Given the description of an element on the screen output the (x, y) to click on. 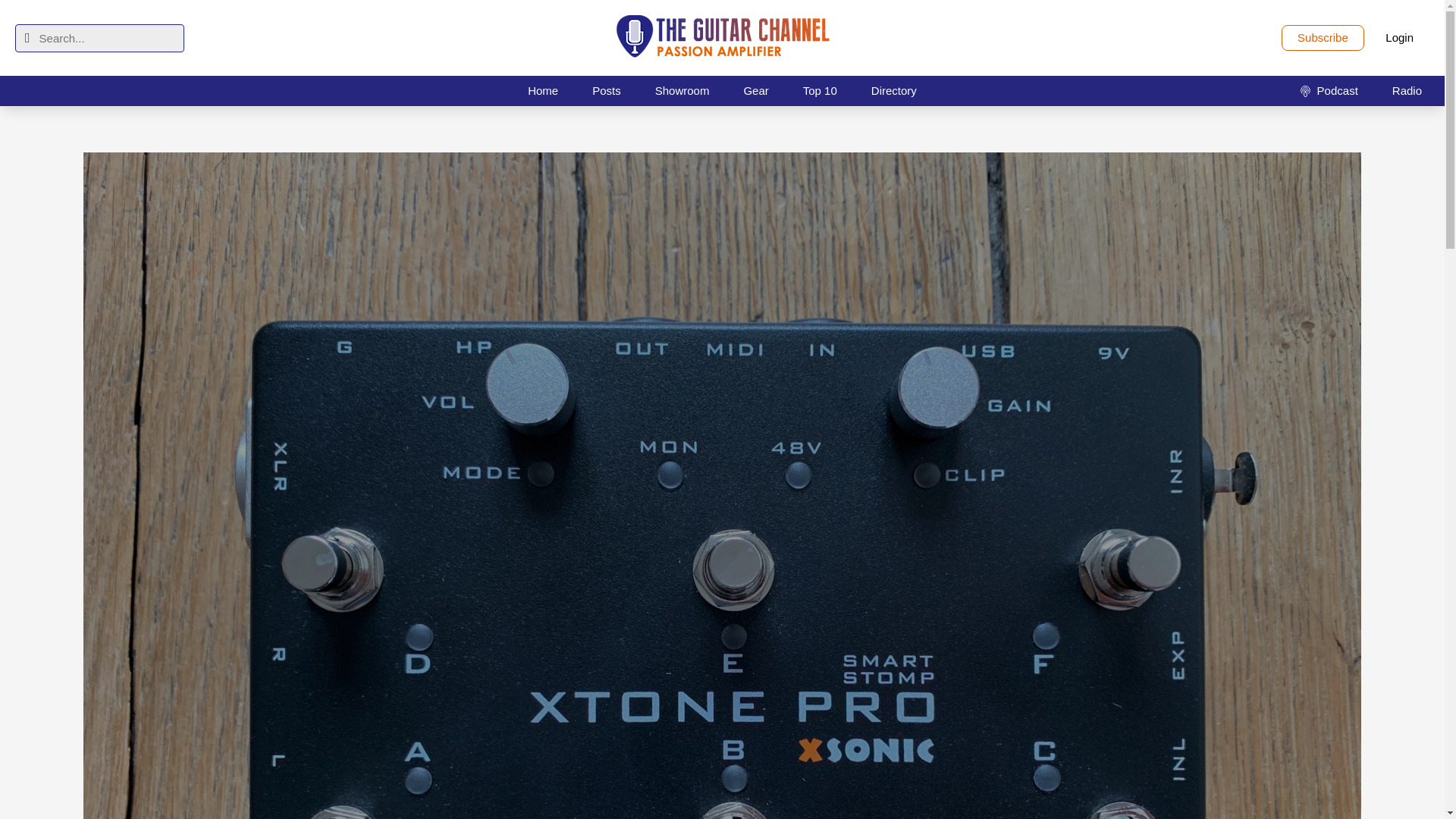
Podcast (1328, 90)
go (27, 38)
Radio (1406, 90)
Directory (893, 90)
Subscribe (1322, 37)
Passion Amplifier (722, 37)
Posts (606, 90)
Top 10 (819, 90)
Showroom (682, 90)
